Given the description of an element on the screen output the (x, y) to click on. 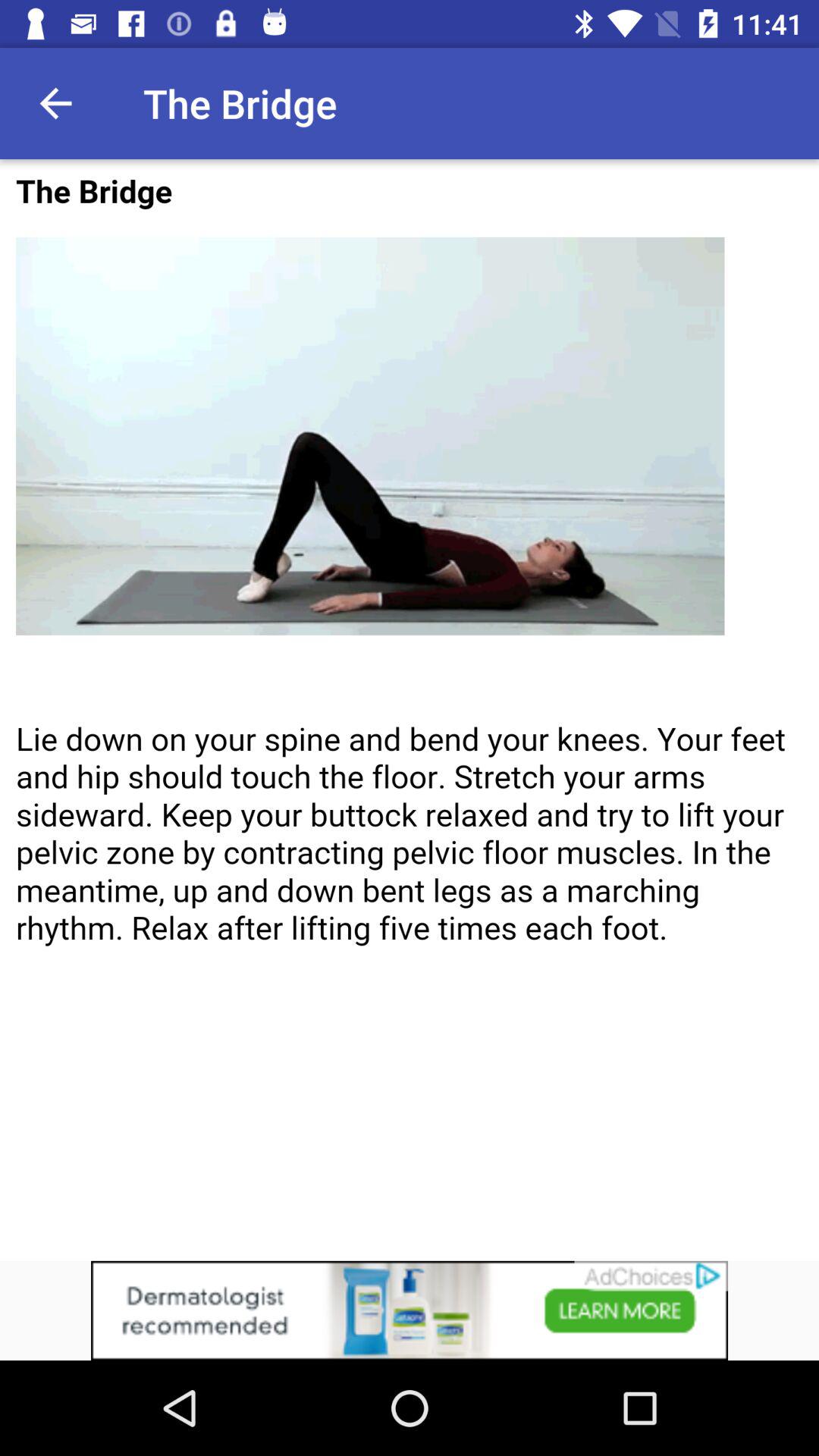
clicks the advertisement (409, 1310)
